Given the description of an element on the screen output the (x, y) to click on. 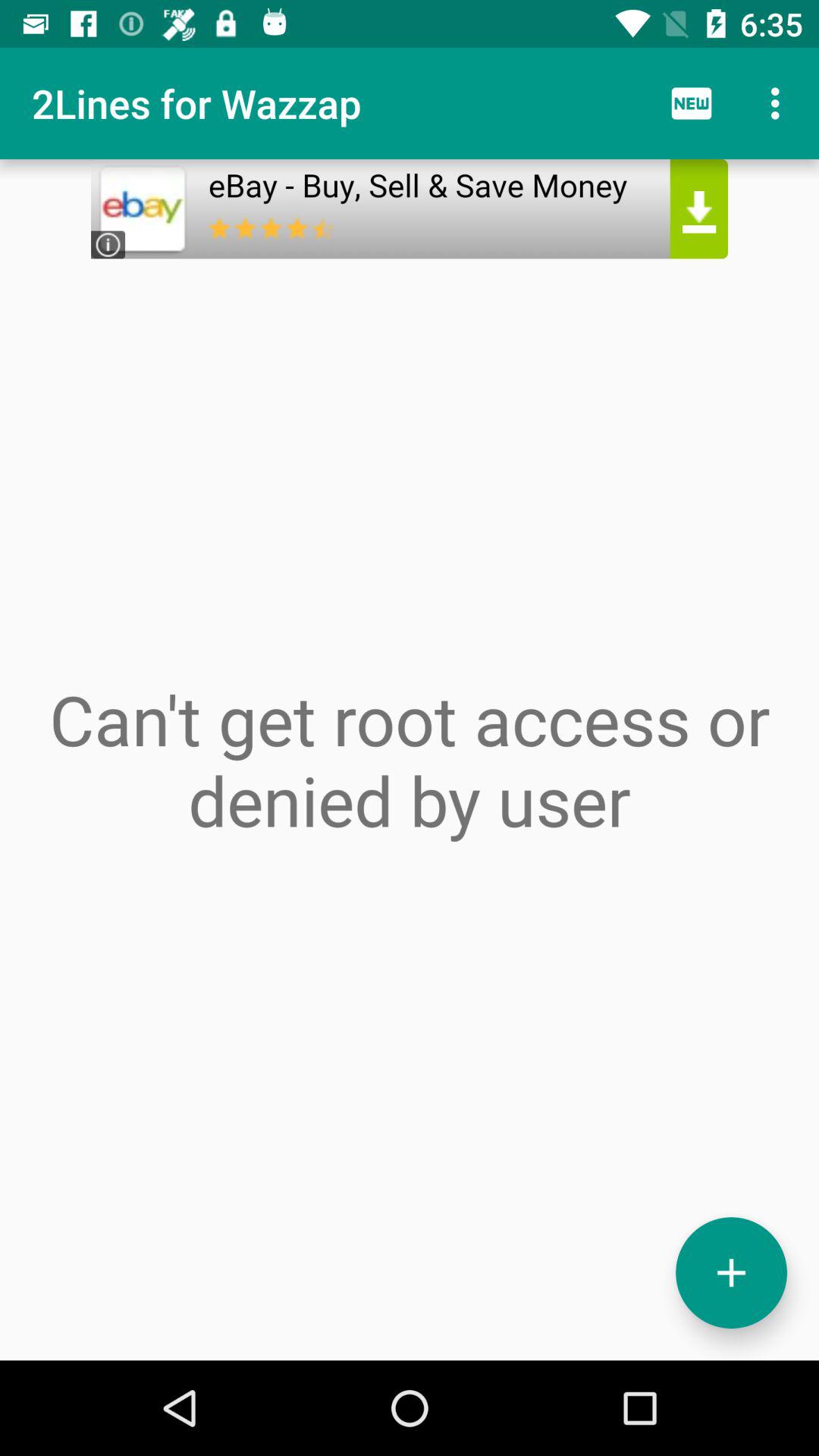
download ebay app (409, 208)
